Given the description of an element on the screen output the (x, y) to click on. 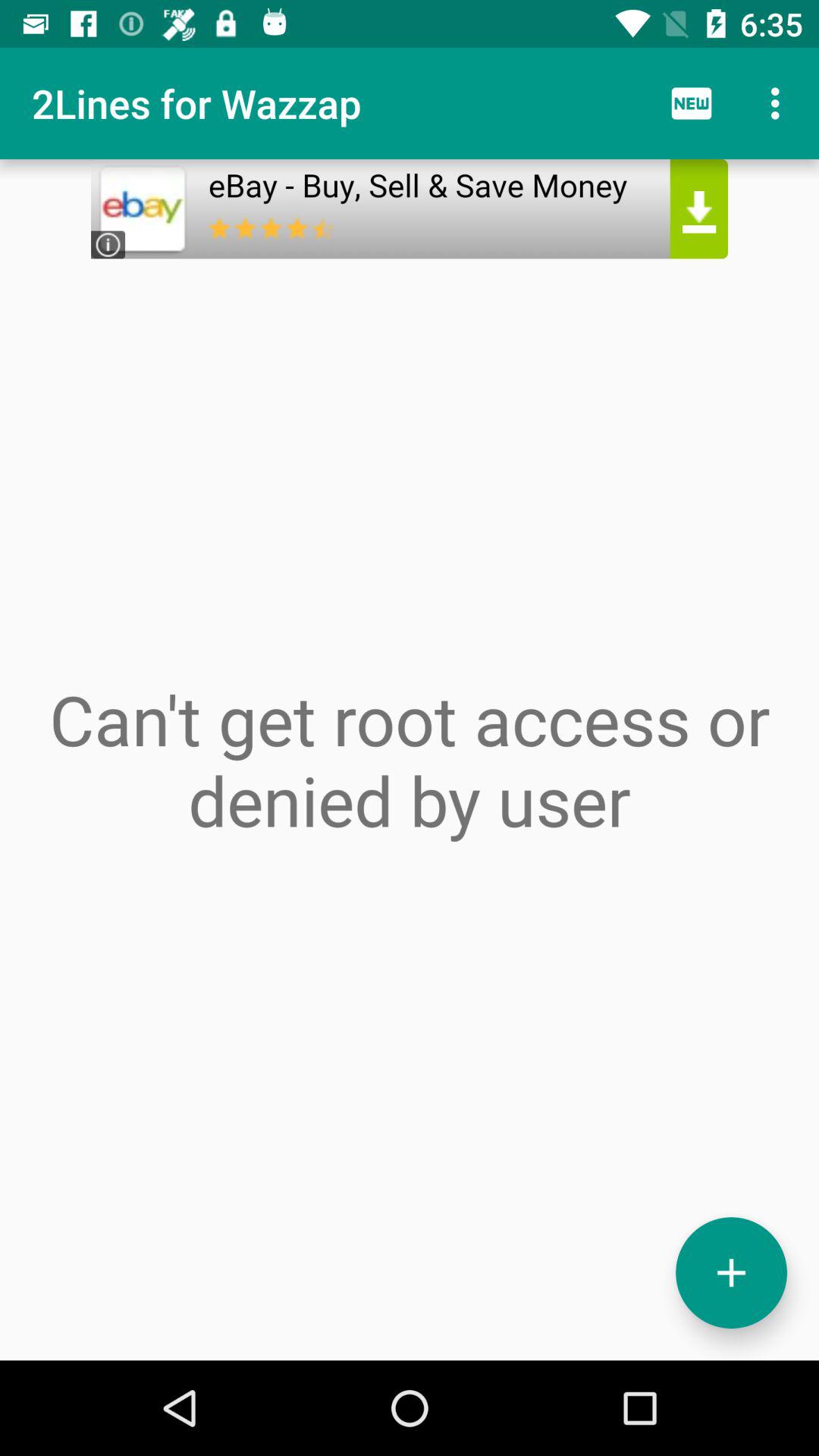
download ebay app (409, 208)
